Given the description of an element on the screen output the (x, y) to click on. 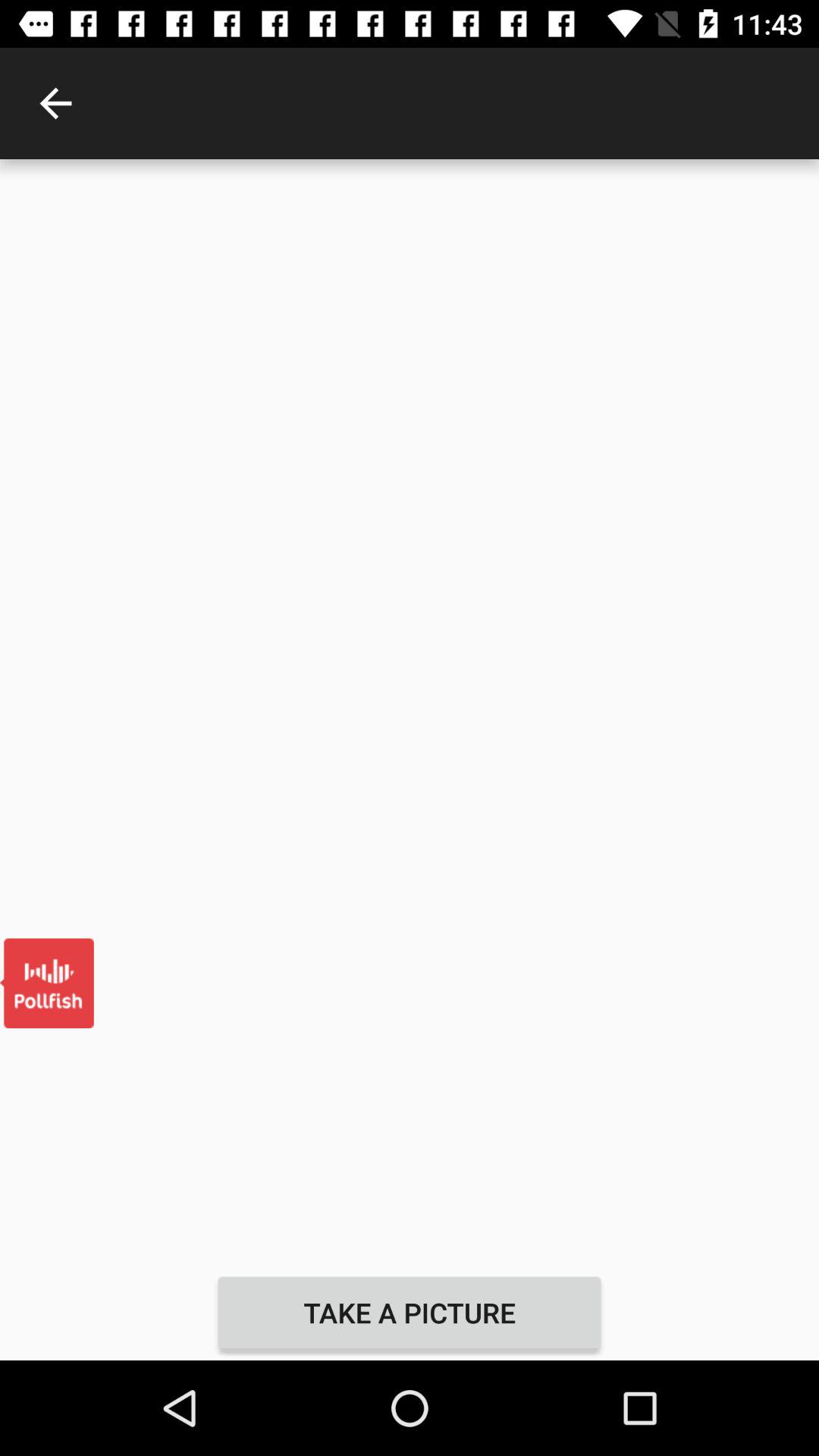
jump until the take a picture icon (409, 1312)
